Given the description of an element on the screen output the (x, y) to click on. 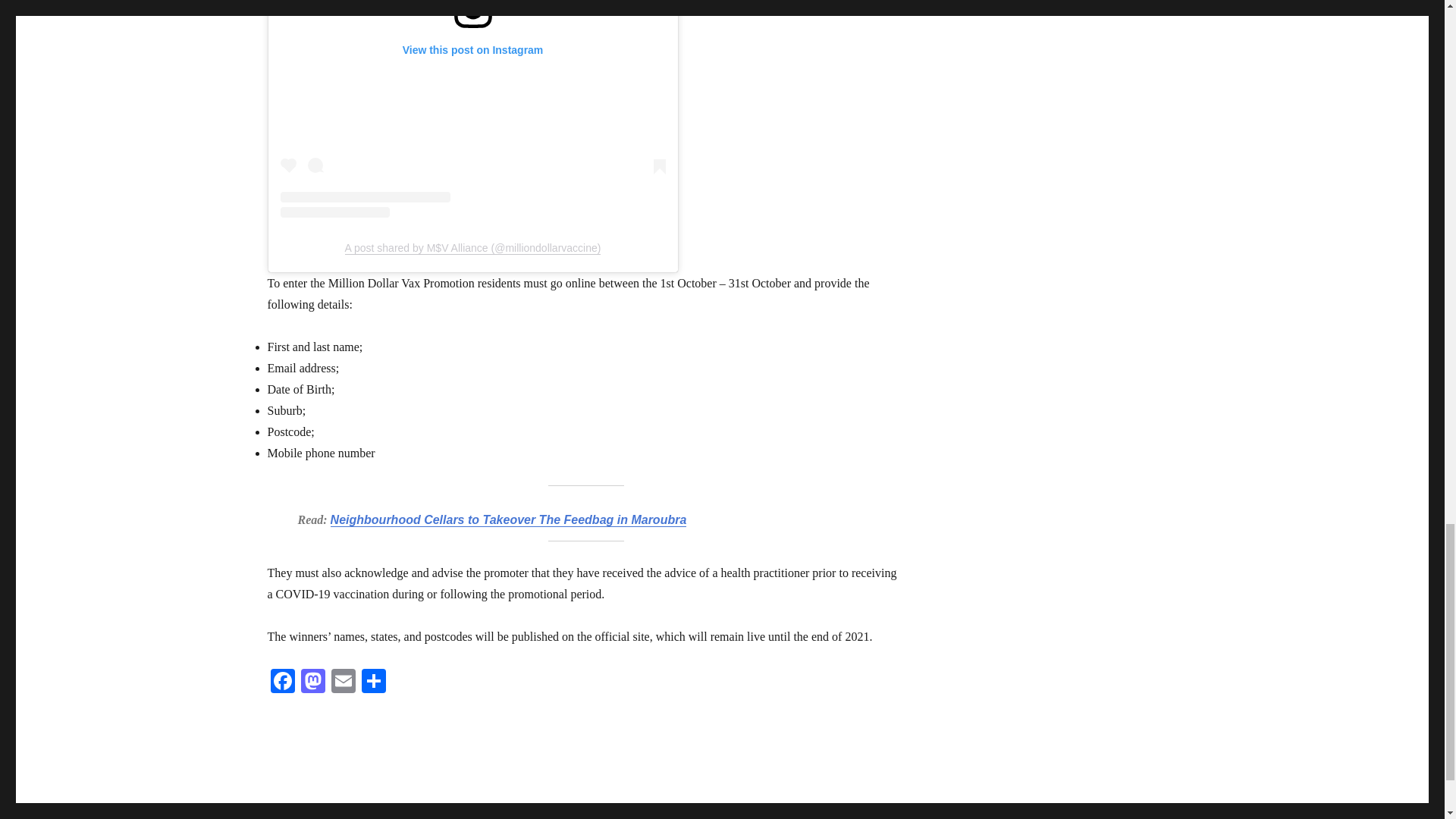
Share (373, 682)
Neighbourhood Cellars to Takeover The Feedbag in Maroubra (508, 519)
Facebook (281, 682)
Mastodon (312, 682)
View this post on Instagram (473, 109)
Email (342, 682)
Mastodon (312, 682)
Email (342, 682)
Maroubra News (301, 814)
Facebook (281, 682)
